Given the description of an element on the screen output the (x, y) to click on. 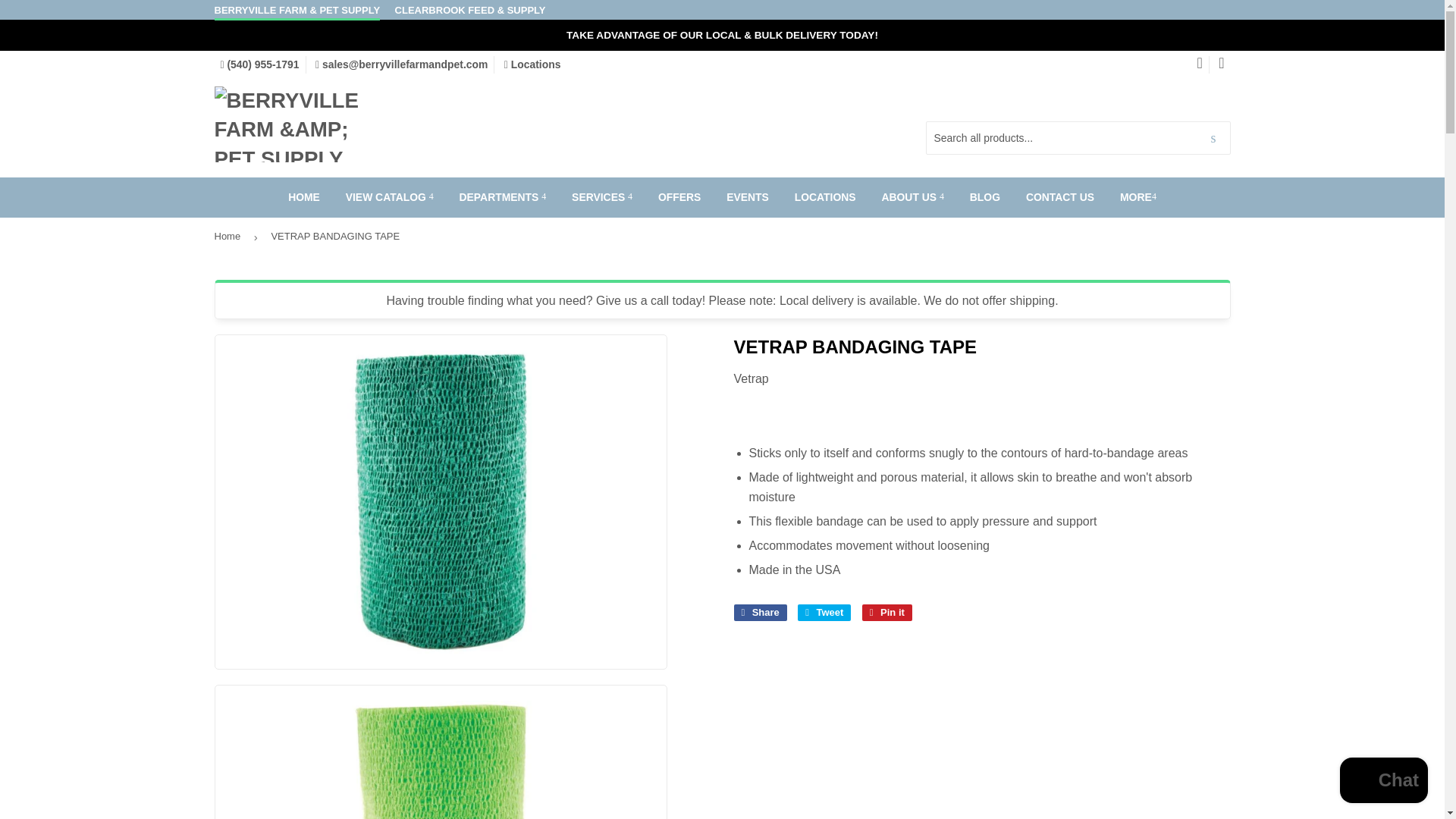
Open Product Zoom (441, 760)
Tweet on Twitter (823, 612)
Share on Facebook (760, 612)
 Locations (531, 64)
SEARCH (1213, 138)
Open Product Zoom (441, 501)
Pin on Pinterest (886, 612)
